Given the description of an element on the screen output the (x, y) to click on. 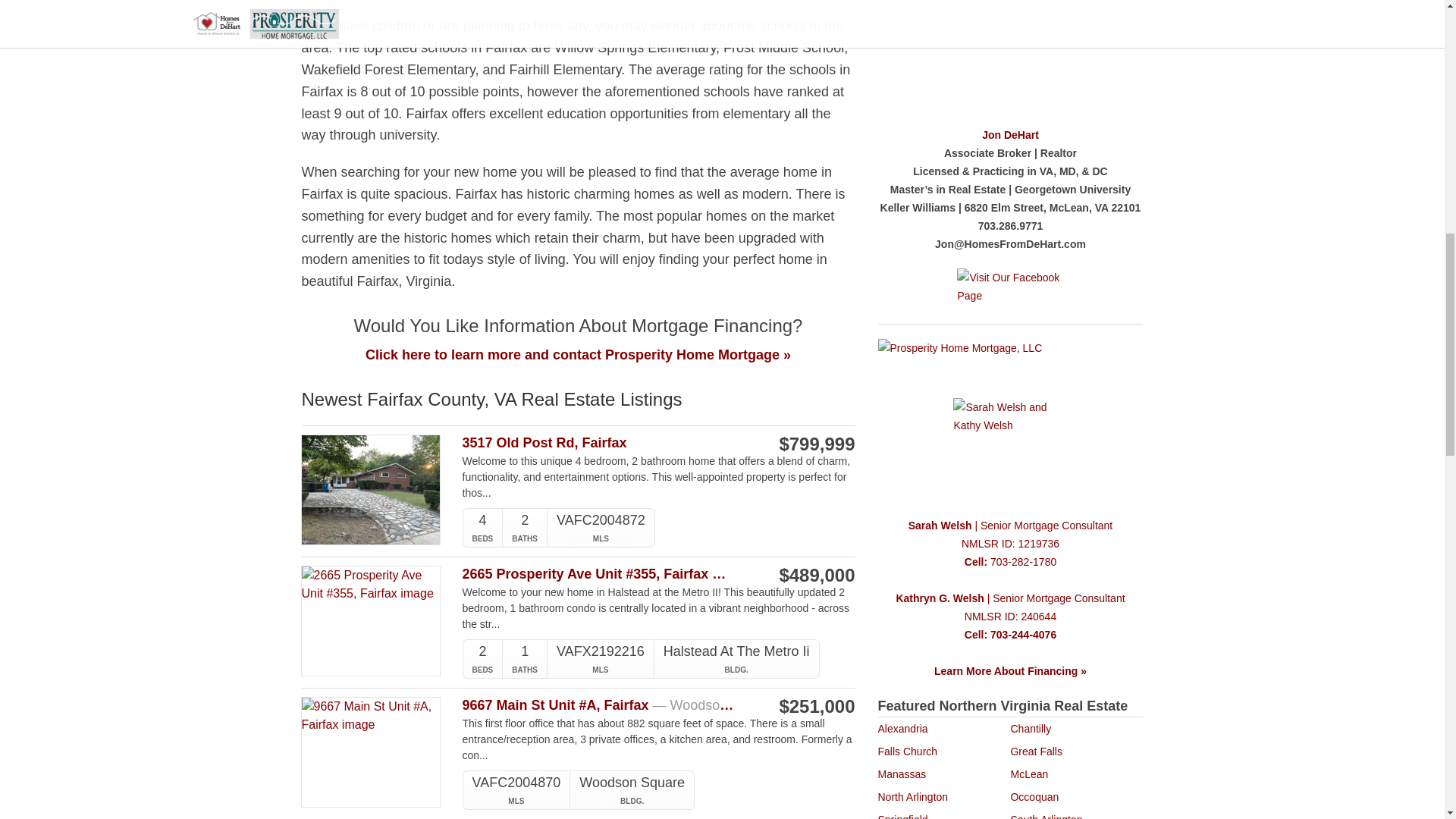
Visit Our Facebook Page (1009, 288)
About Jon DeHart (1009, 55)
Prosperity Home Mortgage LLC Financing (1009, 420)
Learn more about Prosperity Home Mortgage (1010, 625)
About Jon DeHart (1010, 134)
Learn more about Prosperity Home Mortgage (1009, 598)
Learn more about Prosperity Home Mortgage (1010, 525)
3517 Old Post Rd, Fairfax (600, 442)
Learn more about Prosperity Home Mortgage (1009, 552)
